Given the description of an element on the screen output the (x, y) to click on. 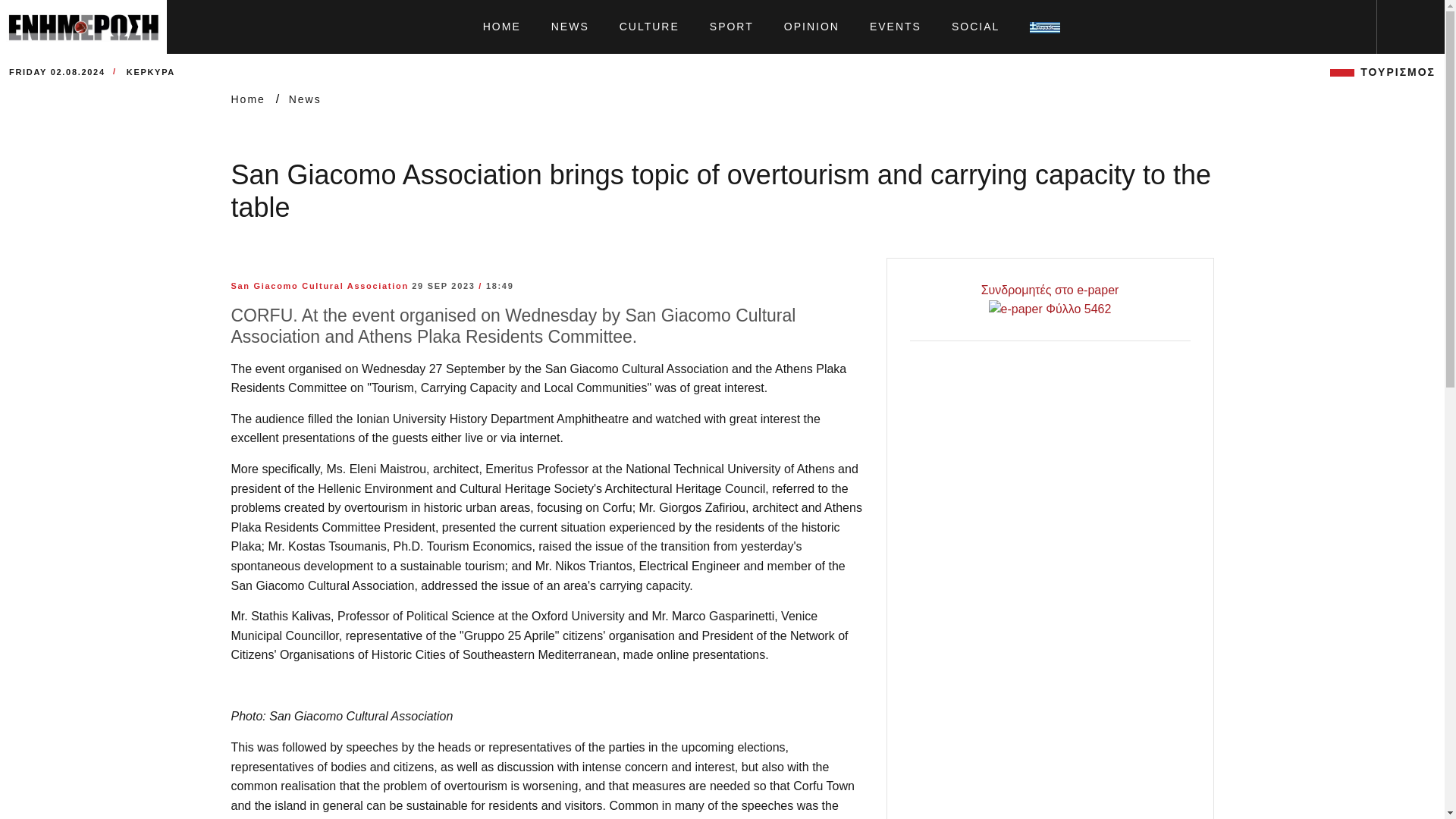
News (304, 99)
OPINION (812, 27)
EVENTS (895, 27)
Home (249, 99)
CULTURE (649, 27)
